Given the description of an element on the screen output the (x, y) to click on. 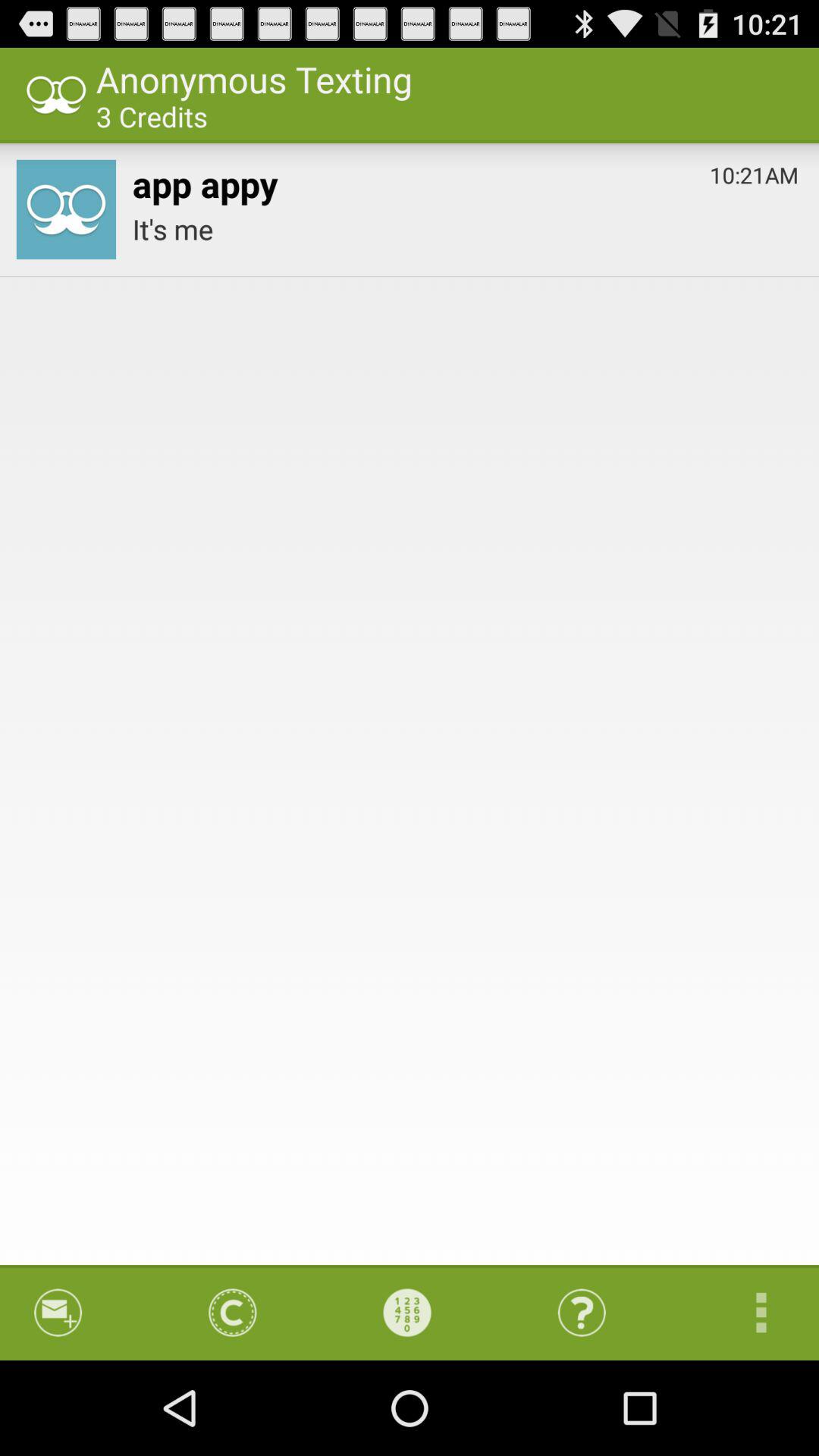
tap app to the right of the app appy (753, 171)
